Given the description of an element on the screen output the (x, y) to click on. 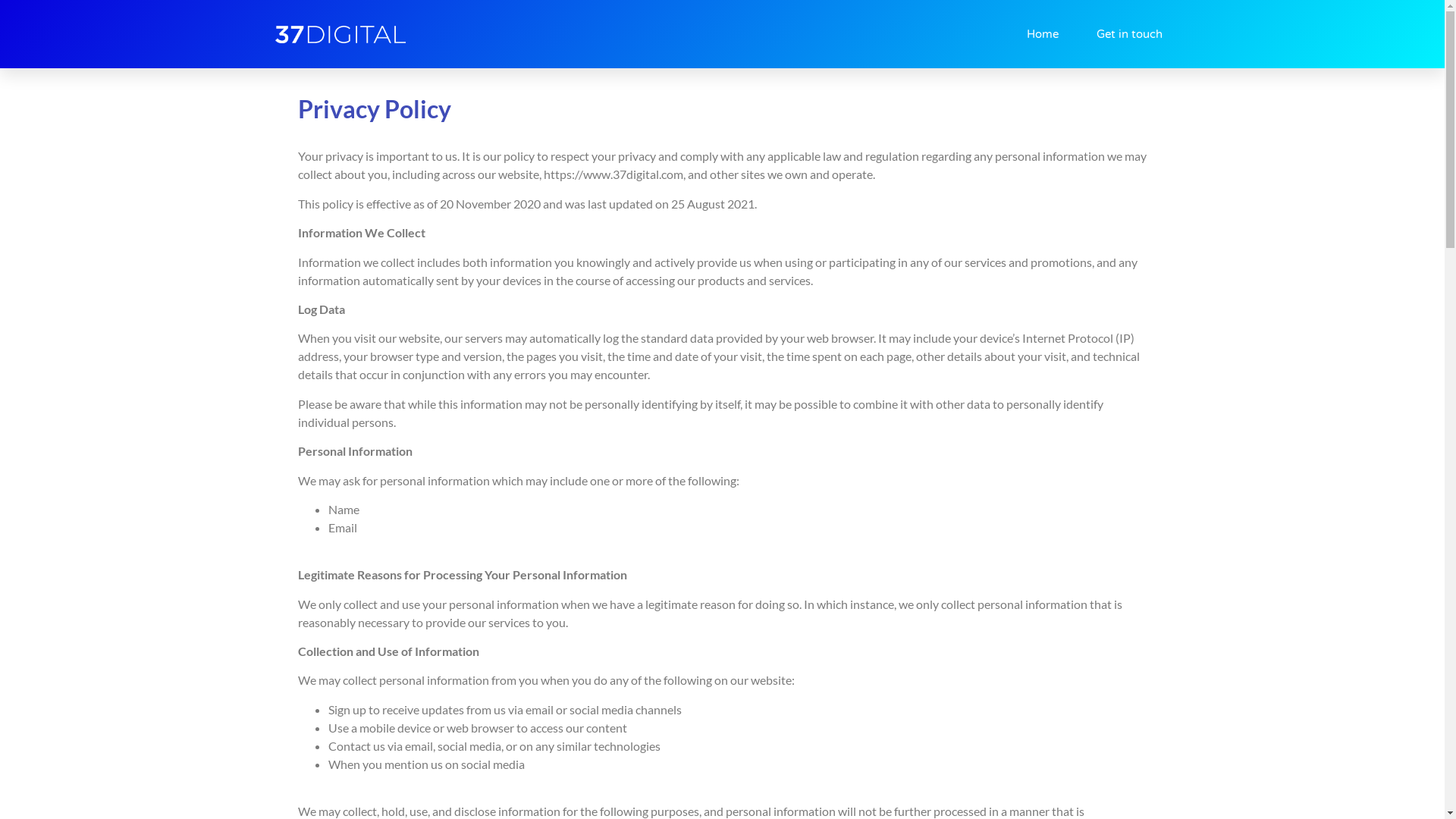
Get in touch Element type: text (1129, 34)
Home Element type: text (1042, 34)
